Given the description of an element on the screen output the (x, y) to click on. 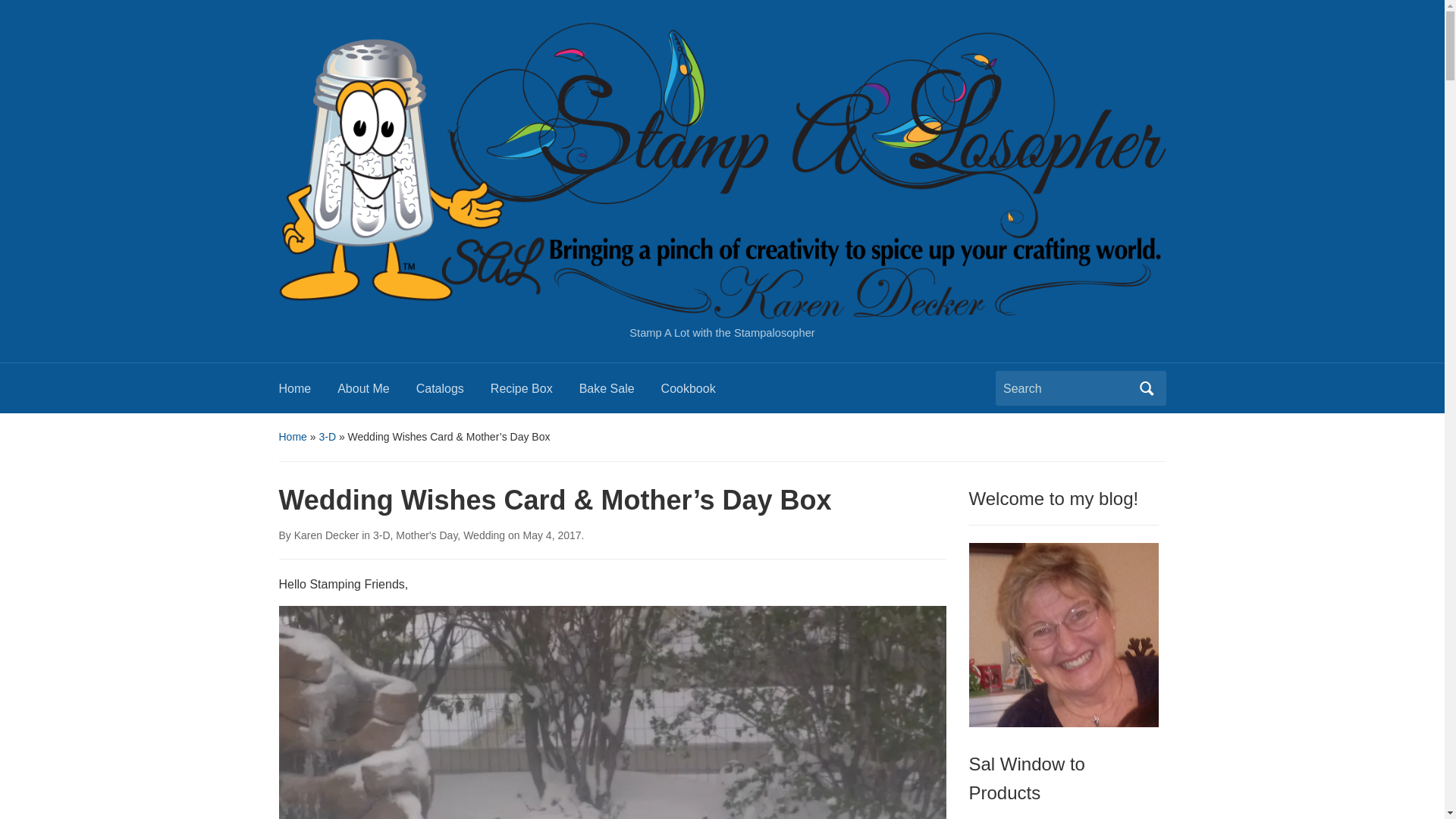
Wedding (484, 535)
Bake Sale (620, 392)
Recipe Box (534, 392)
May 4, 2017 (551, 535)
About Me (375, 392)
3-D (381, 535)
View all posts by Karen Decker (326, 535)
Home (293, 436)
Stampalosopher - Stamp A Lot with the Stampalosopher (722, 169)
Home (308, 392)
Mother's Day (426, 535)
Karen Decker (326, 535)
2:16 PM (551, 535)
Cookbook (701, 392)
3-D (327, 436)
